Given the description of an element on the screen output the (x, y) to click on. 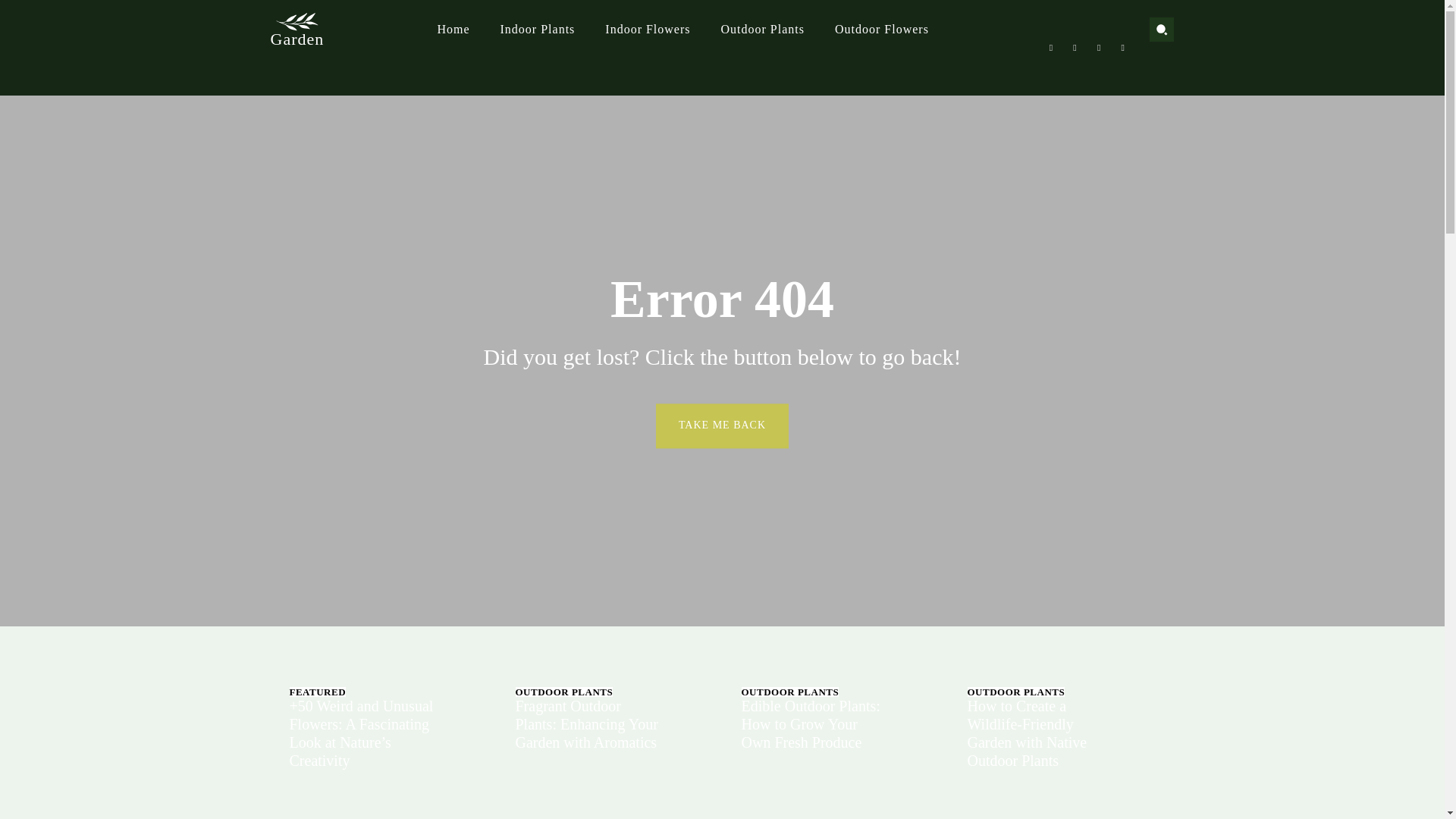
Indoor Plants (537, 29)
Facebook (1050, 47)
Outdoor Plants (762, 29)
OUTDOOR PLANTS (790, 691)
Garden (296, 27)
Outdoor Flowers (882, 29)
Twitter (1098, 47)
TAKE ME BACK (722, 425)
Take me back (722, 425)
Indoor Flowers (647, 29)
OUTDOOR PLANTS (563, 691)
Home (452, 29)
Youtube (1123, 47)
